Given the description of an element on the screen output the (x, y) to click on. 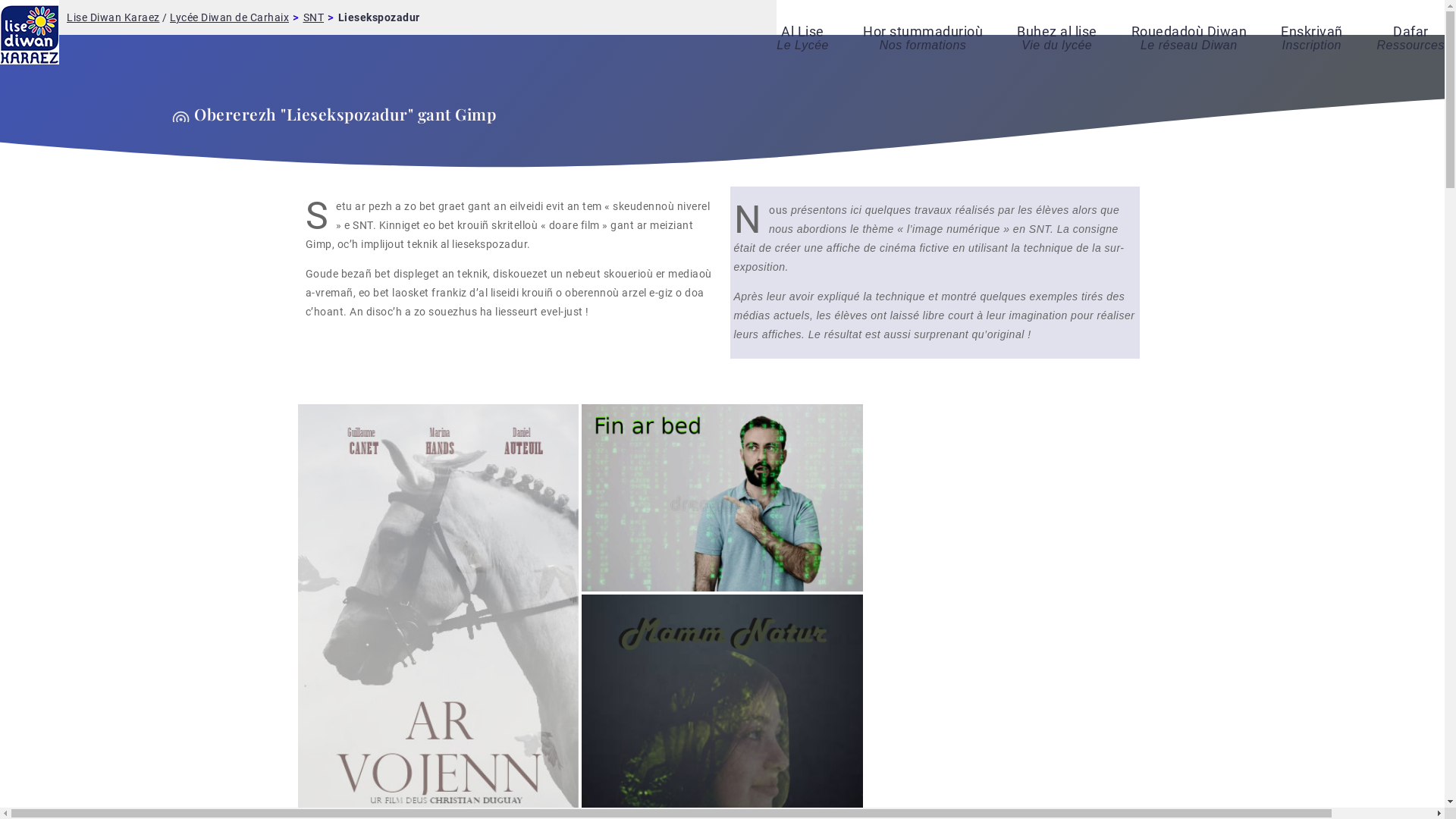
SNT Element type: text (313, 17)
Dafar
Ressources Element type: text (1410, 37)
Lise Diwan Karaez Element type: text (113, 17)
